Given the description of an element on the screen output the (x, y) to click on. 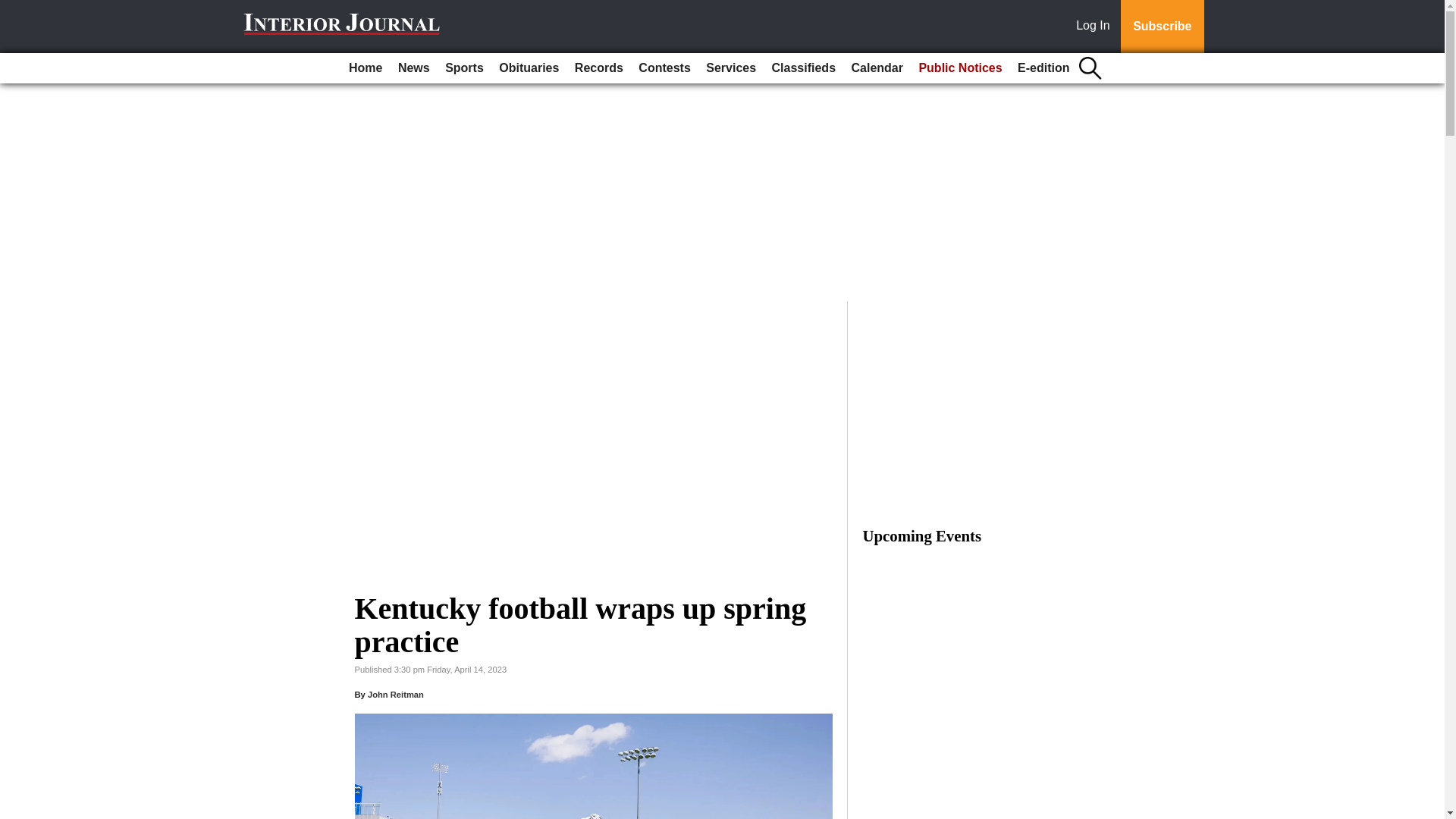
Records (598, 68)
Obituaries (528, 68)
Log In (1095, 26)
E-edition (1043, 68)
Home (365, 68)
Classifieds (803, 68)
Go (13, 9)
Contests (663, 68)
Calendar (876, 68)
John Reitman (395, 694)
Subscribe (1162, 26)
Sports (464, 68)
Public Notices (959, 68)
Services (730, 68)
News (413, 68)
